Given the description of an element on the screen output the (x, y) to click on. 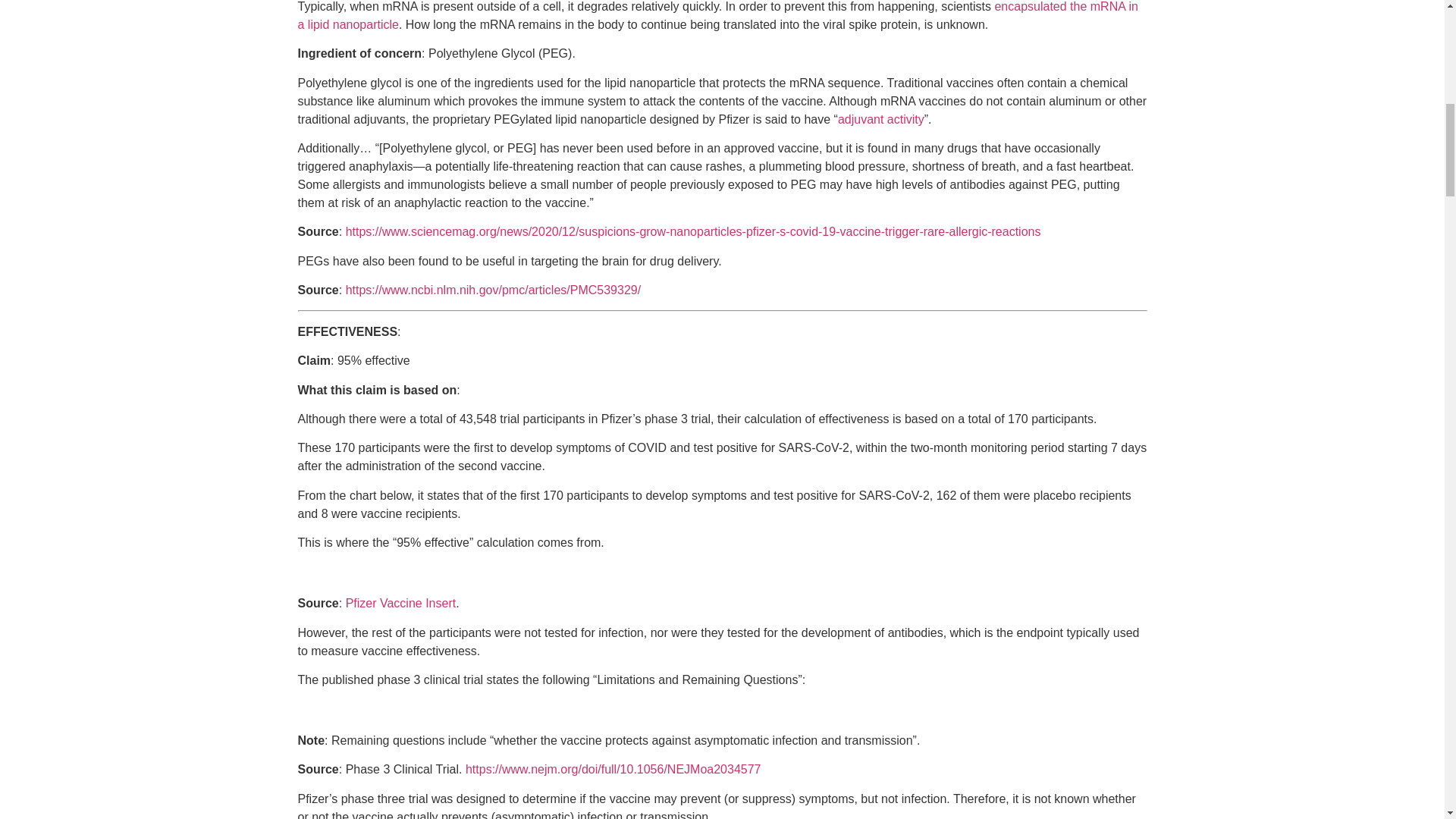
adjuvant activity (881, 118)
Pfizer Vaccine Insert (401, 603)
encapsulated the mRNA in a lipid nanoparticle (717, 15)
